Given the description of an element on the screen output the (x, y) to click on. 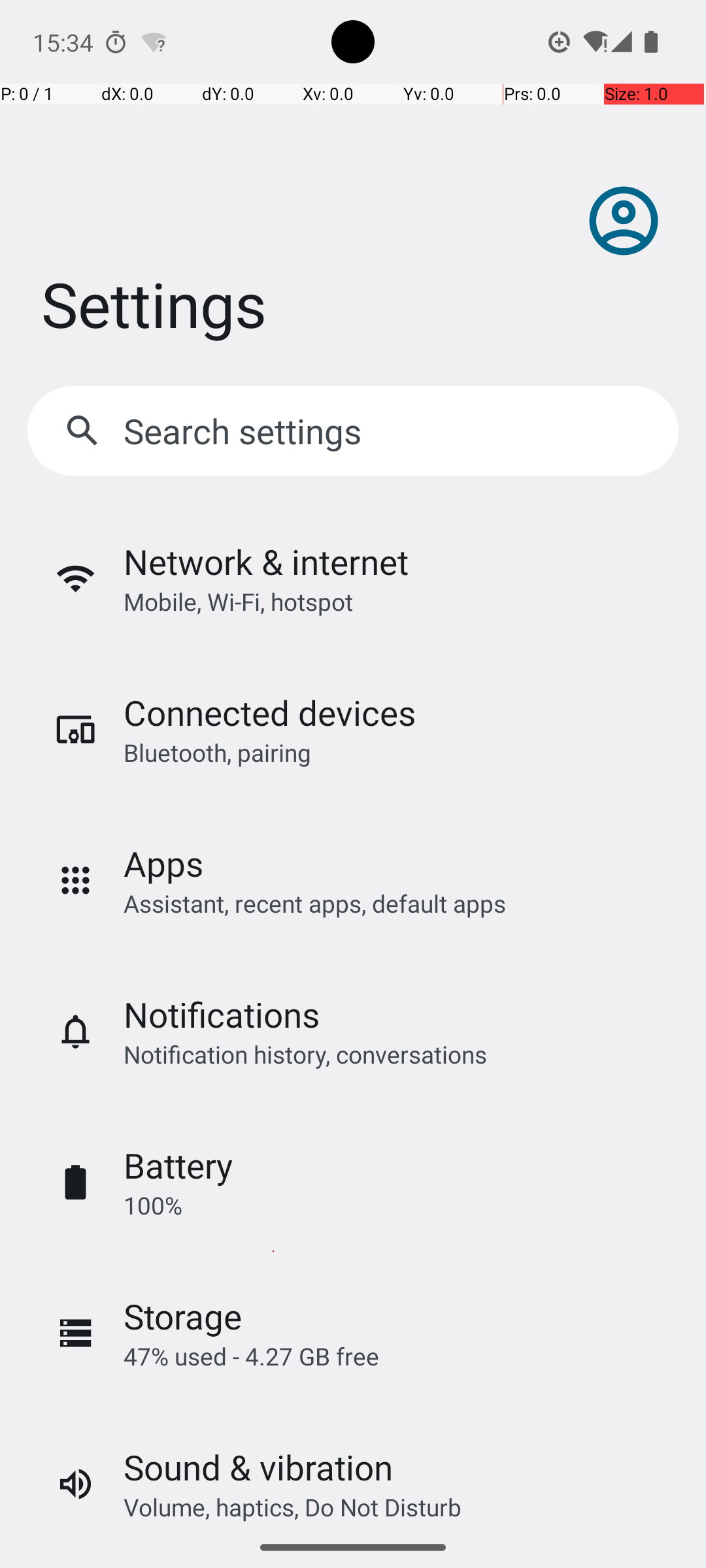
47% used - 4.27 GB free Element type: android.widget.TextView (251, 1355)
